Given the description of an element on the screen output the (x, y) to click on. 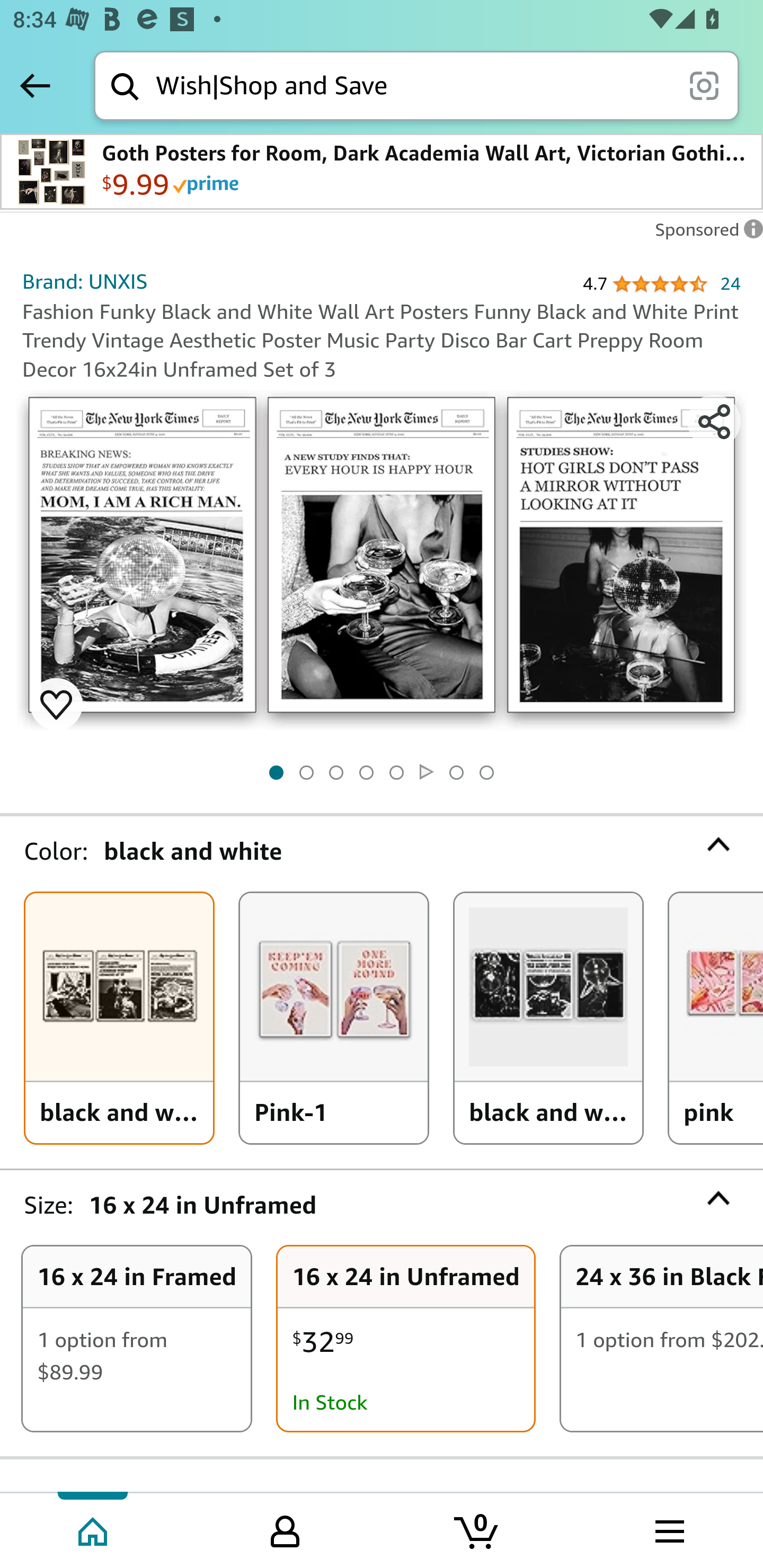
Back (35, 85)
Search Search Wish|Shop and Save scan it (416, 85)
scan it (704, 85)
Leave feedback on Sponsored ad Sponsored  (703, 234)
Brand: UNXIS (85, 281)
Heart to save an item to your default list (56, 703)
black and white (118, 1018)
Pink-1 (333, 1018)
black and white-1 (548, 1018)
pink (716, 1018)
Home Tab 1 of 4 (94, 1529)
Your Amazon.com Tab 2 of 4 (285, 1529)
Cart 0 item Tab 3 of 4 0 (477, 1529)
Browse menu Tab 4 of 4 (668, 1529)
